Given the description of an element on the screen output the (x, y) to click on. 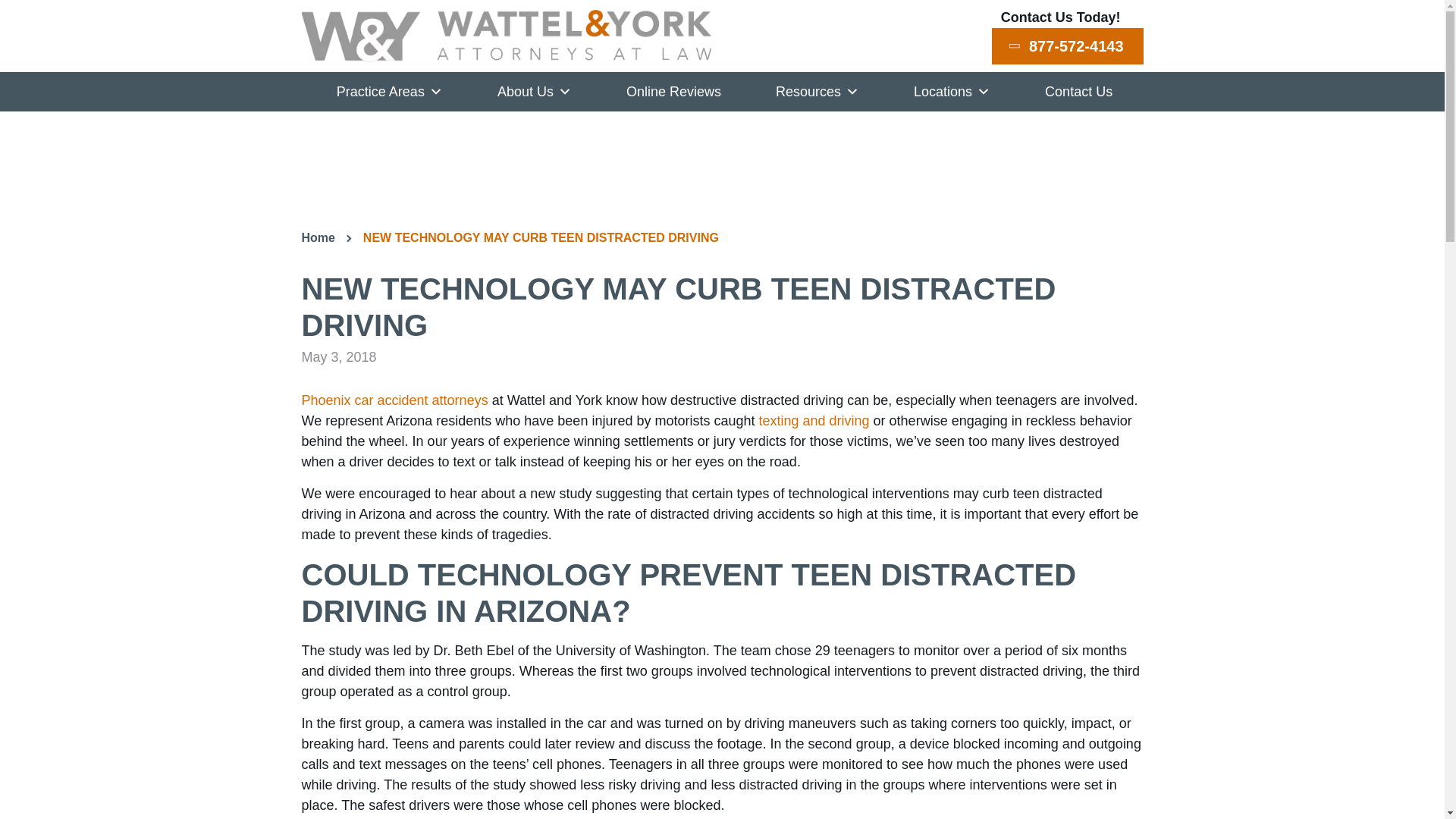
Practice Areas (387, 91)
Resources (814, 91)
Call us! (1066, 45)
About Us (531, 91)
Online Reviews (670, 91)
877-572-4143 (1066, 45)
